Given the description of an element on the screen output the (x, y) to click on. 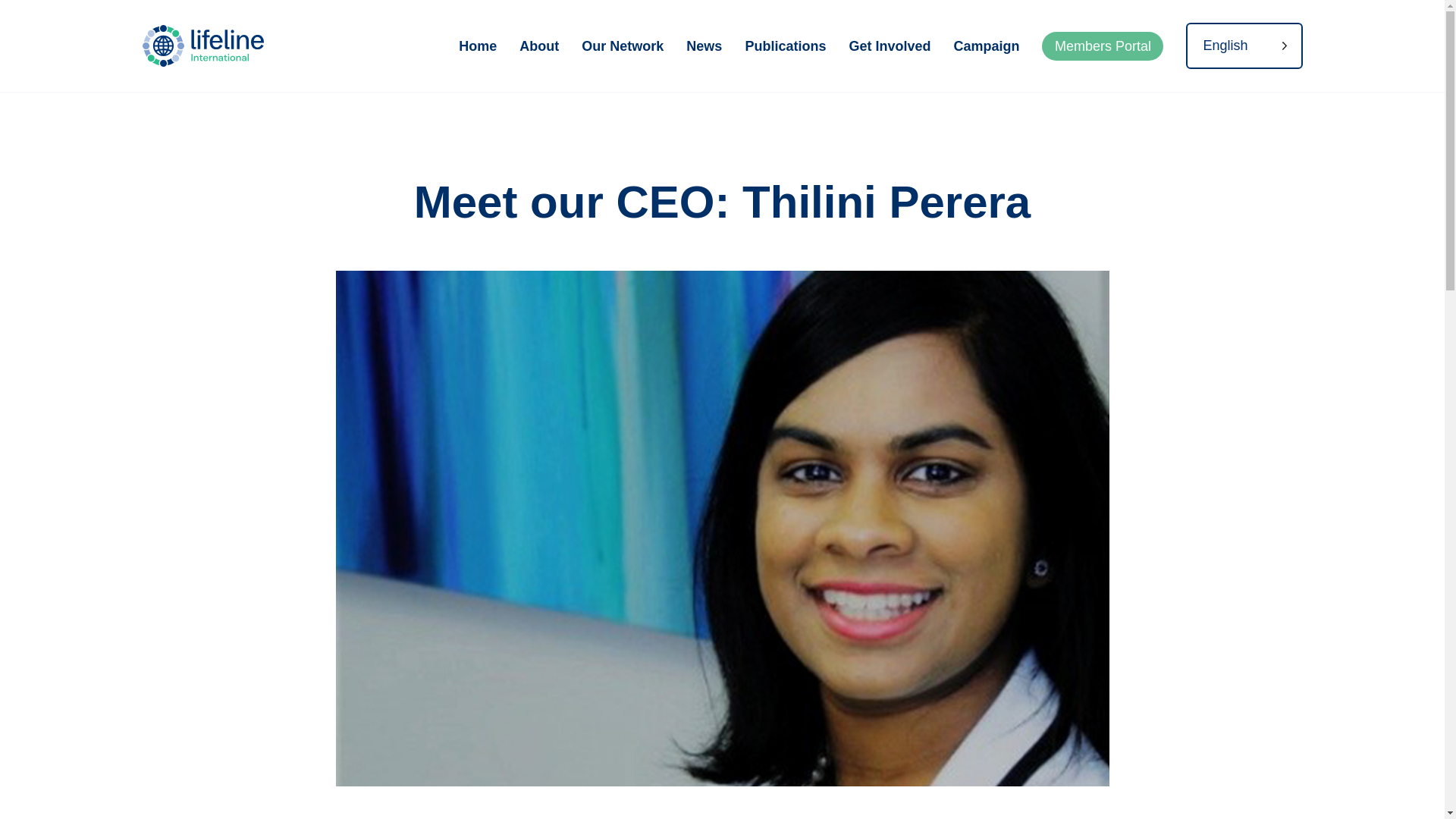
Campaign (986, 45)
LifeLine International (210, 45)
Publications (784, 45)
LifeLine International (210, 45)
Home (477, 45)
About (539, 45)
Get Involved (889, 45)
Our Network (621, 45)
News (703, 45)
Members Portal (1102, 45)
